Given the description of an element on the screen output the (x, y) to click on. 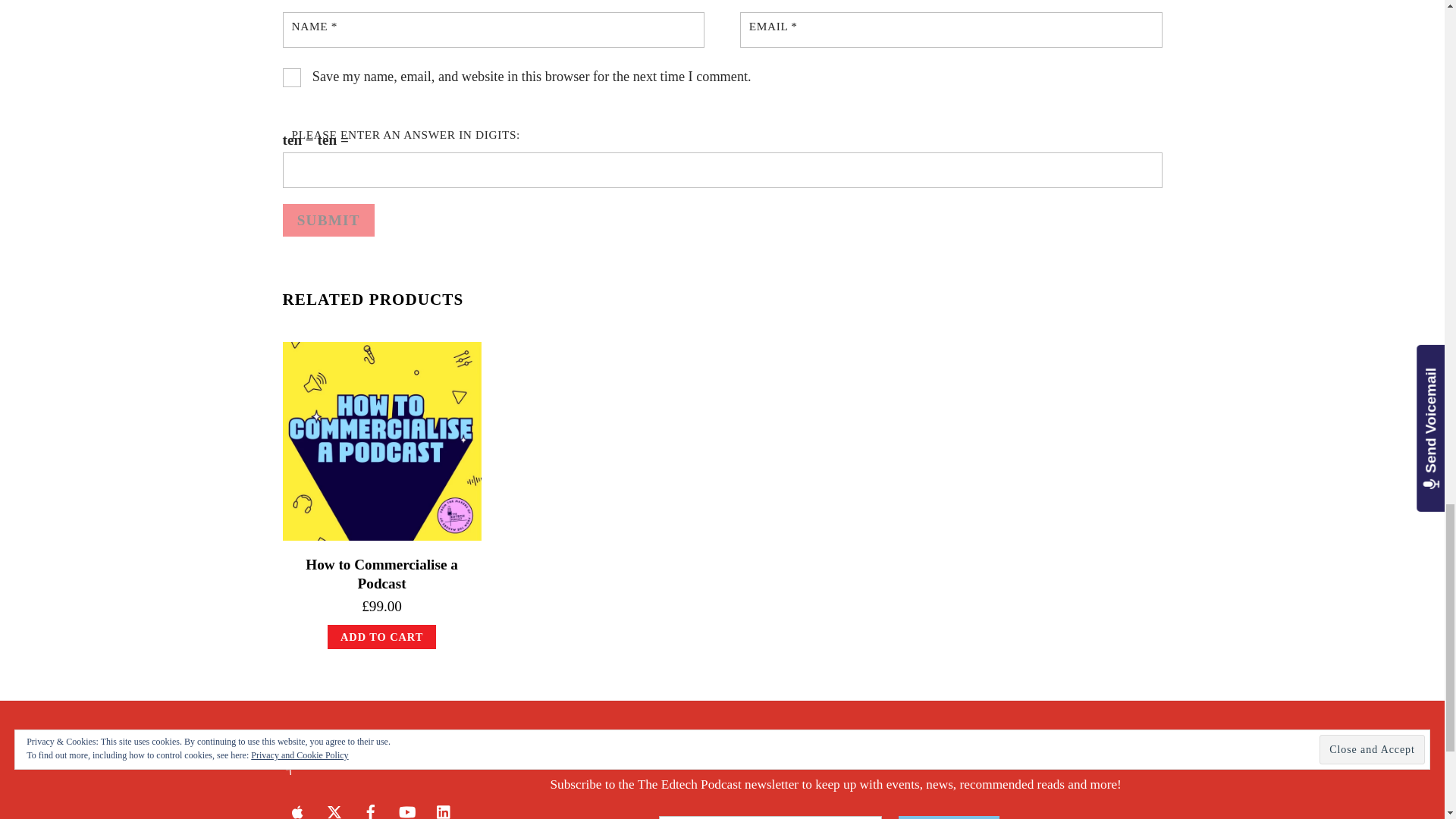
yes (291, 76)
How to Commercialise a Podcast (381, 573)
How To Commercialise A Podcast (381, 441)
ADD TO CART (381, 636)
The Edtech Podcast (362, 768)
Sign up (948, 817)
Submit (328, 219)
Submit (328, 219)
